Given the description of an element on the screen output the (x, y) to click on. 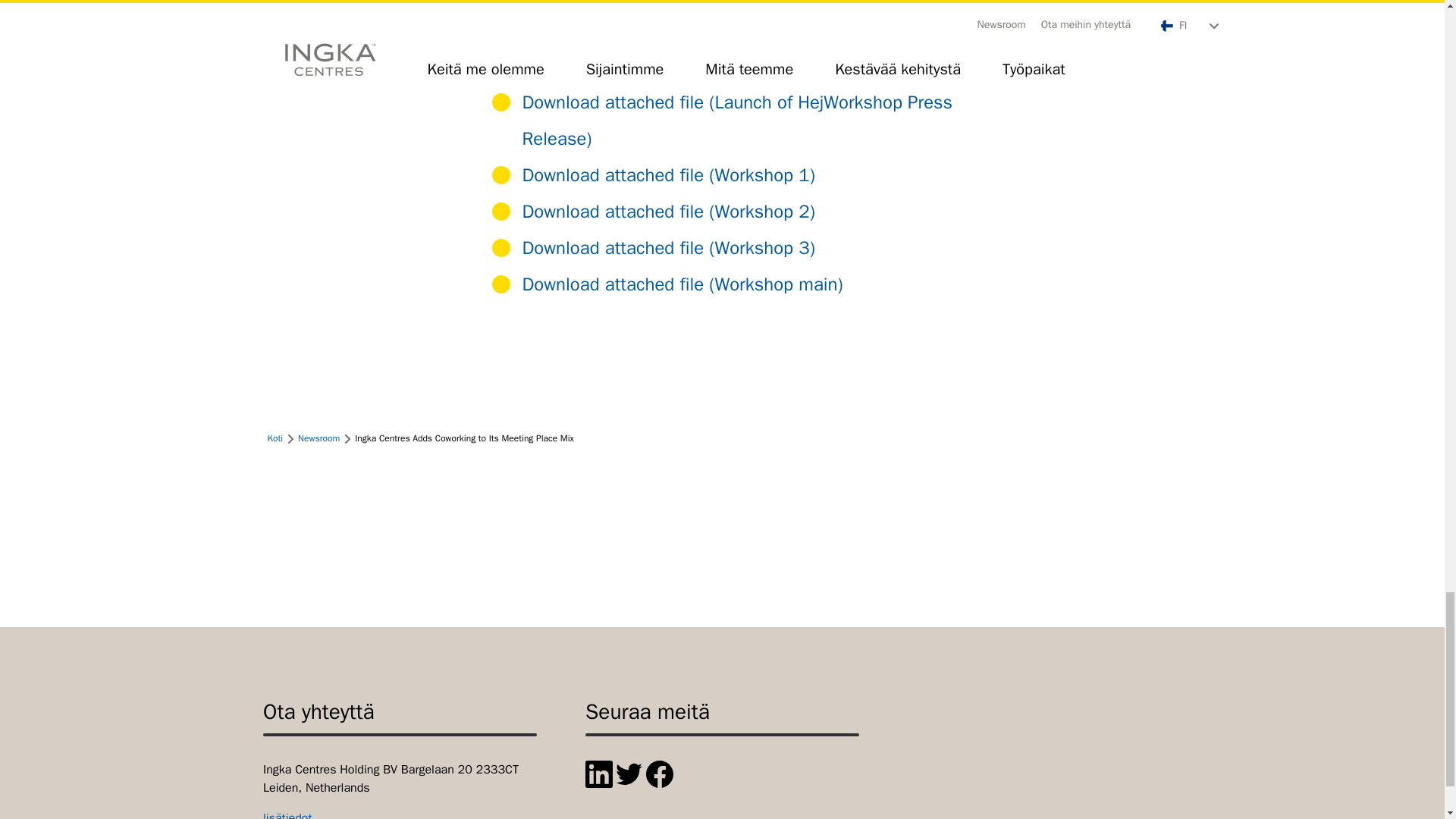
Koti (274, 438)
Newsroom (318, 438)
